Given the description of an element on the screen output the (x, y) to click on. 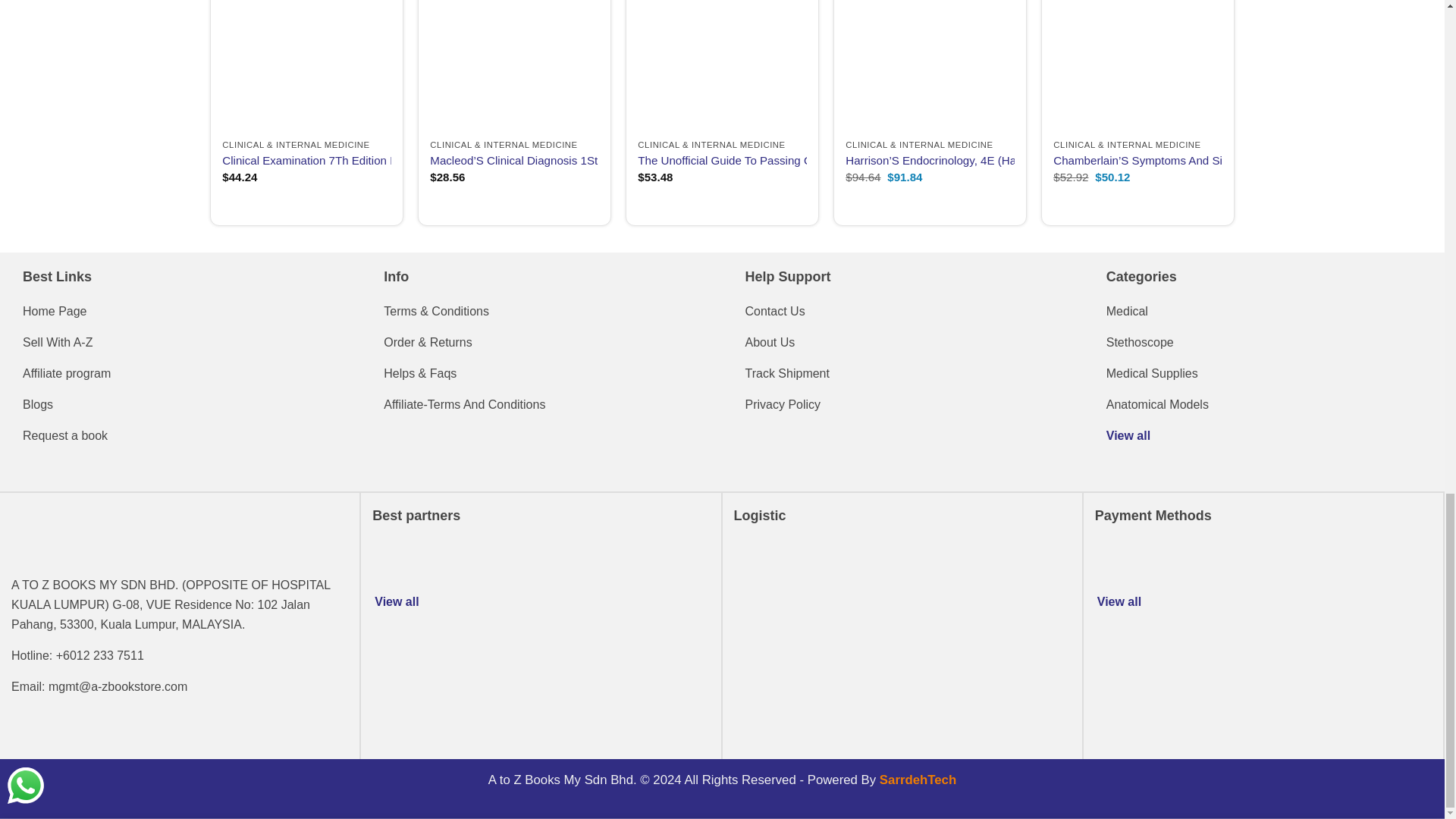
9780957149908-01 - A-Z Bookstore (721, 65)
9780199585823-01 - A-Z Bookstore (1344, 65)
9780729541954 - A-Z Bookstore (306, 65)
9780340974254 - A-Z Bookstore (1136, 65)
9781259835728-01 - A-Z Bookstore (929, 65)
9780702035449 - A-Z Bookstore (513, 65)
